Given the description of an element on the screen output the (x, y) to click on. 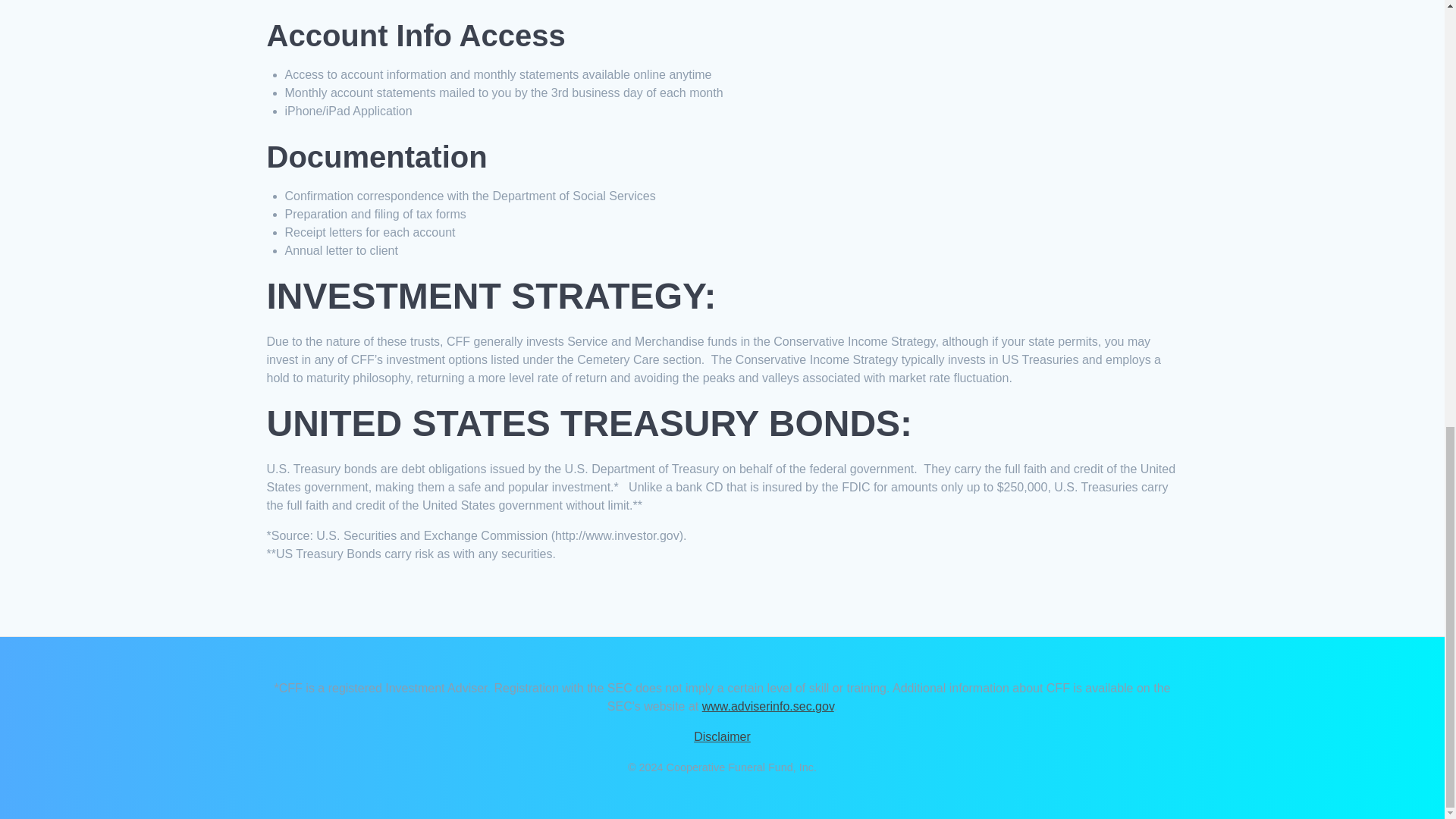
Disclaimer (722, 736)
www.adviserinfo.sec.gov (767, 706)
